Given the description of an element on the screen output the (x, y) to click on. 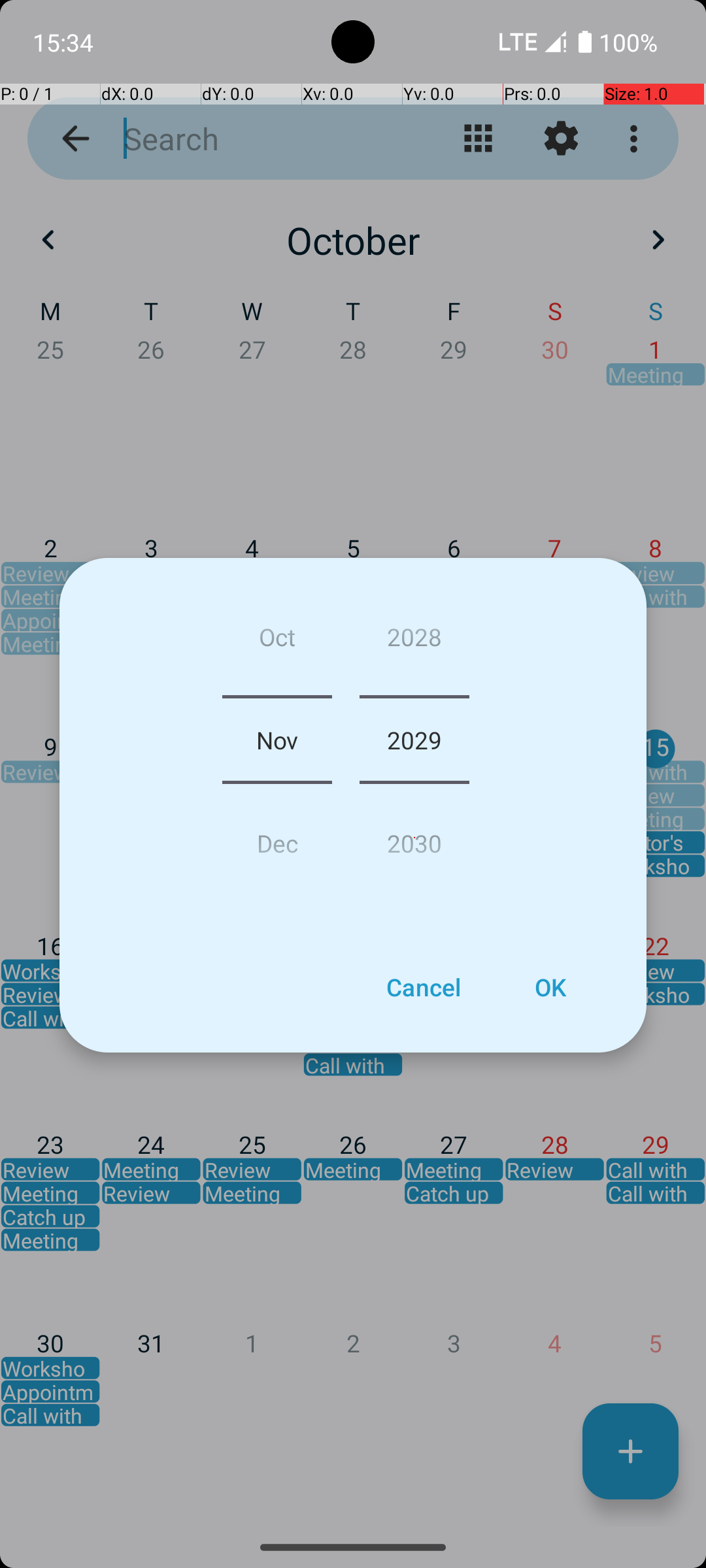
Dec Element type: android.widget.Button (277, 837)
2028 Element type: android.widget.Button (414, 641)
2029 Element type: android.widget.EditText (414, 739)
2030 Element type: android.widget.Button (414, 837)
